Given the description of an element on the screen output the (x, y) to click on. 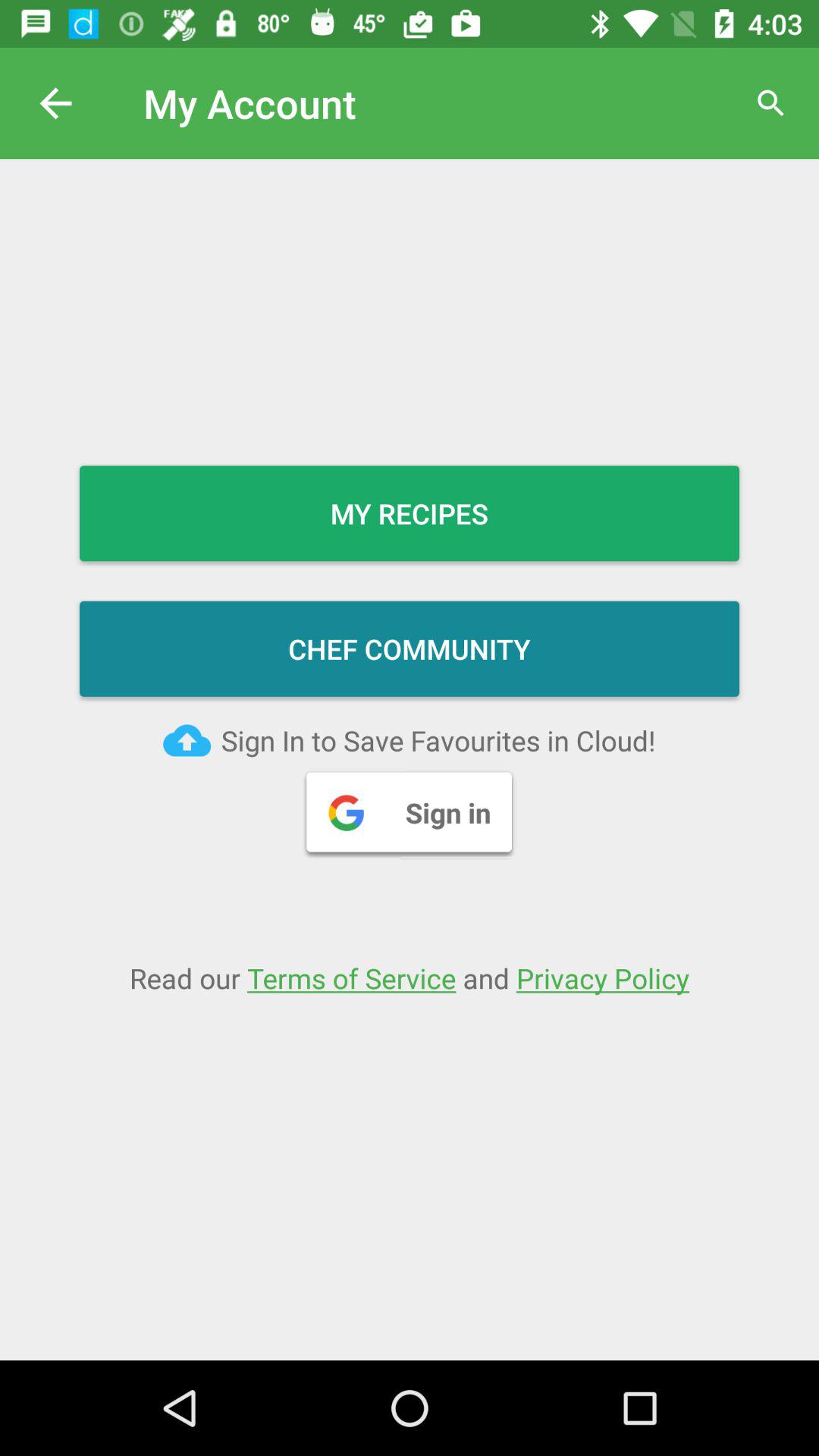
magnifier icon (771, 103)
click on chef community (409, 649)
click the sign in button on the web page (409, 812)
